Given the description of an element on the screen output the (x, y) to click on. 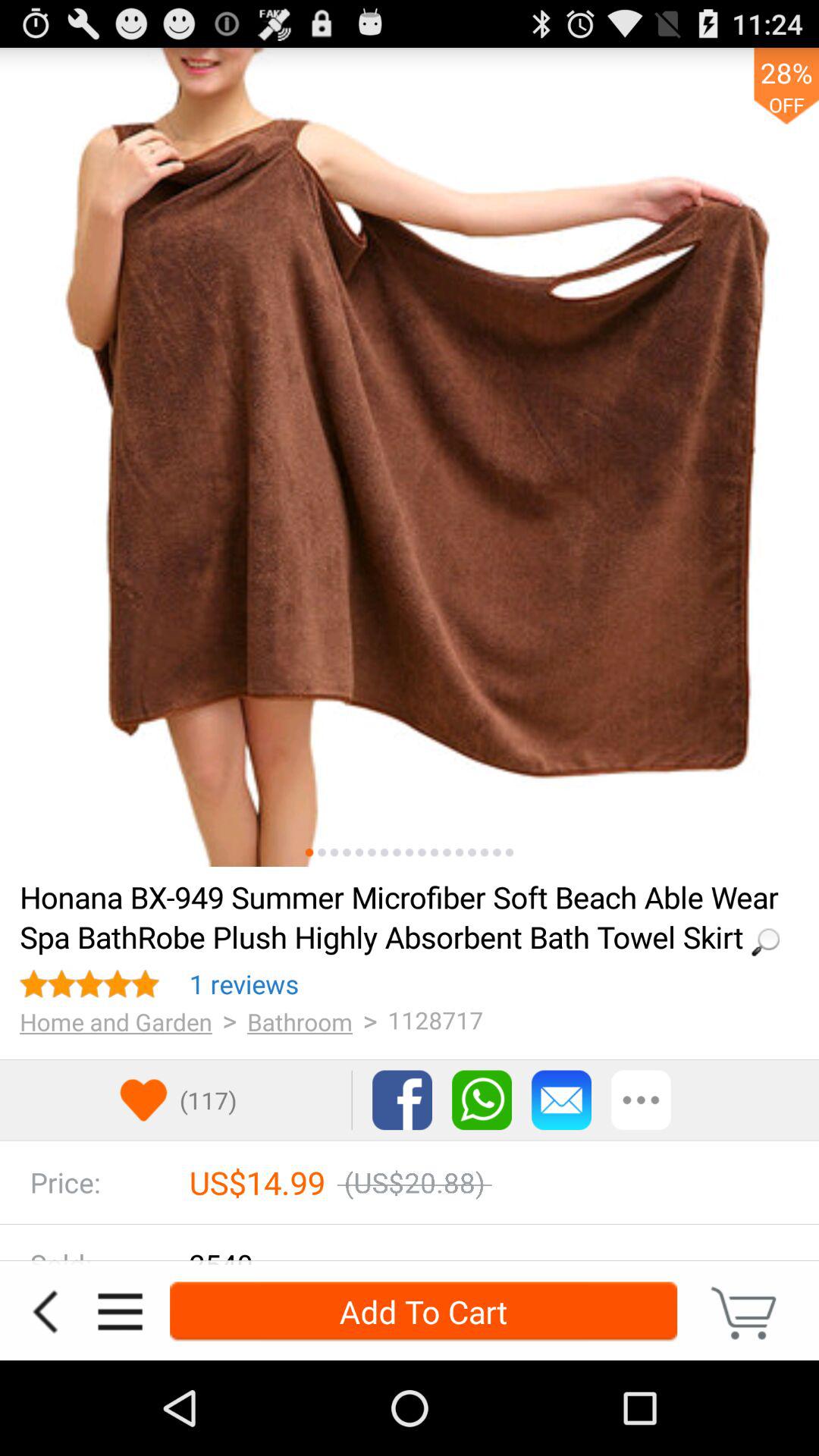
swipe left or right on the photos to look through available items (509, 852)
